Given the description of an element on the screen output the (x, y) to click on. 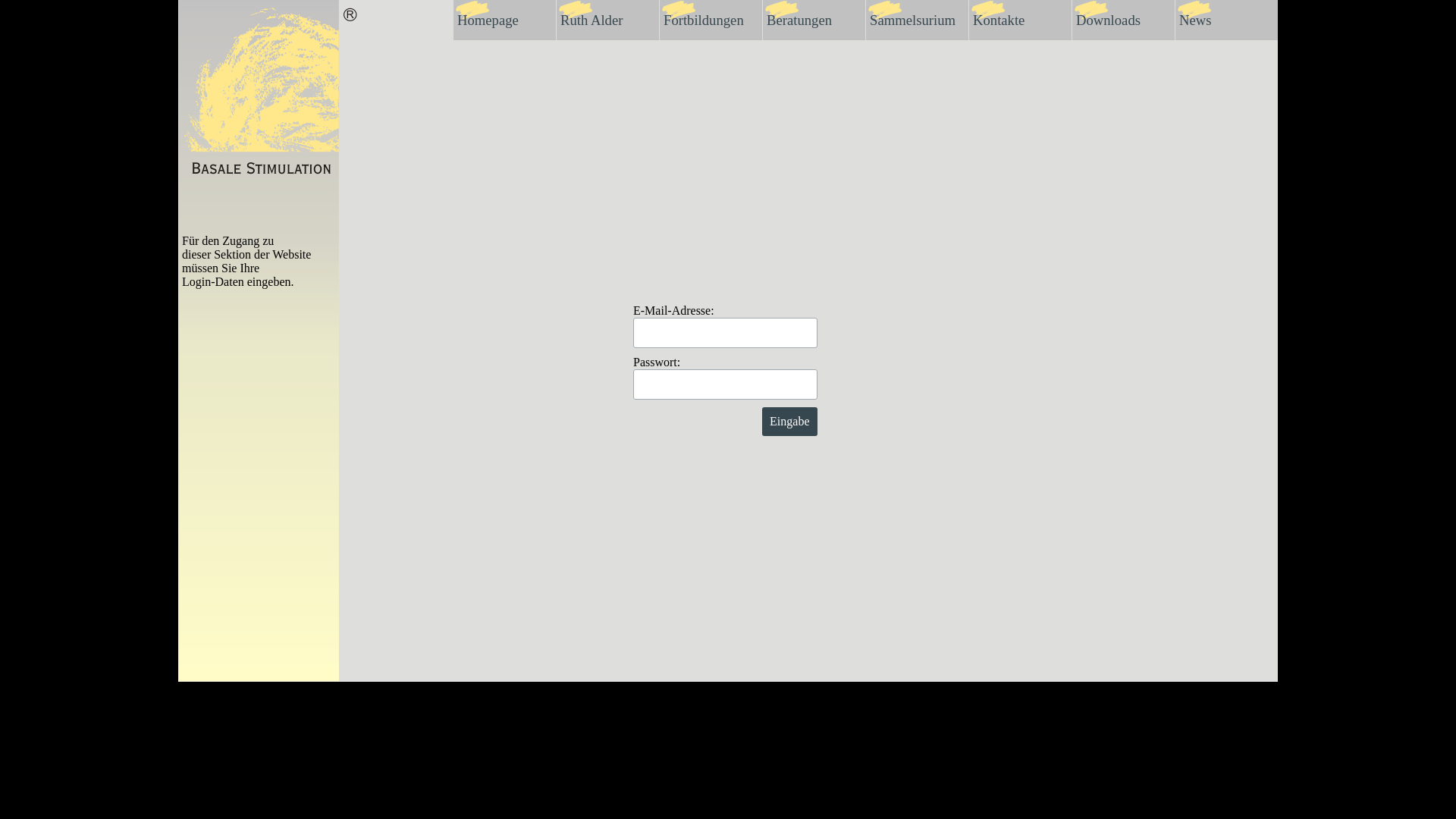
Homepage Element type: text (504, 20)
